Given the description of an element on the screen output the (x, y) to click on. 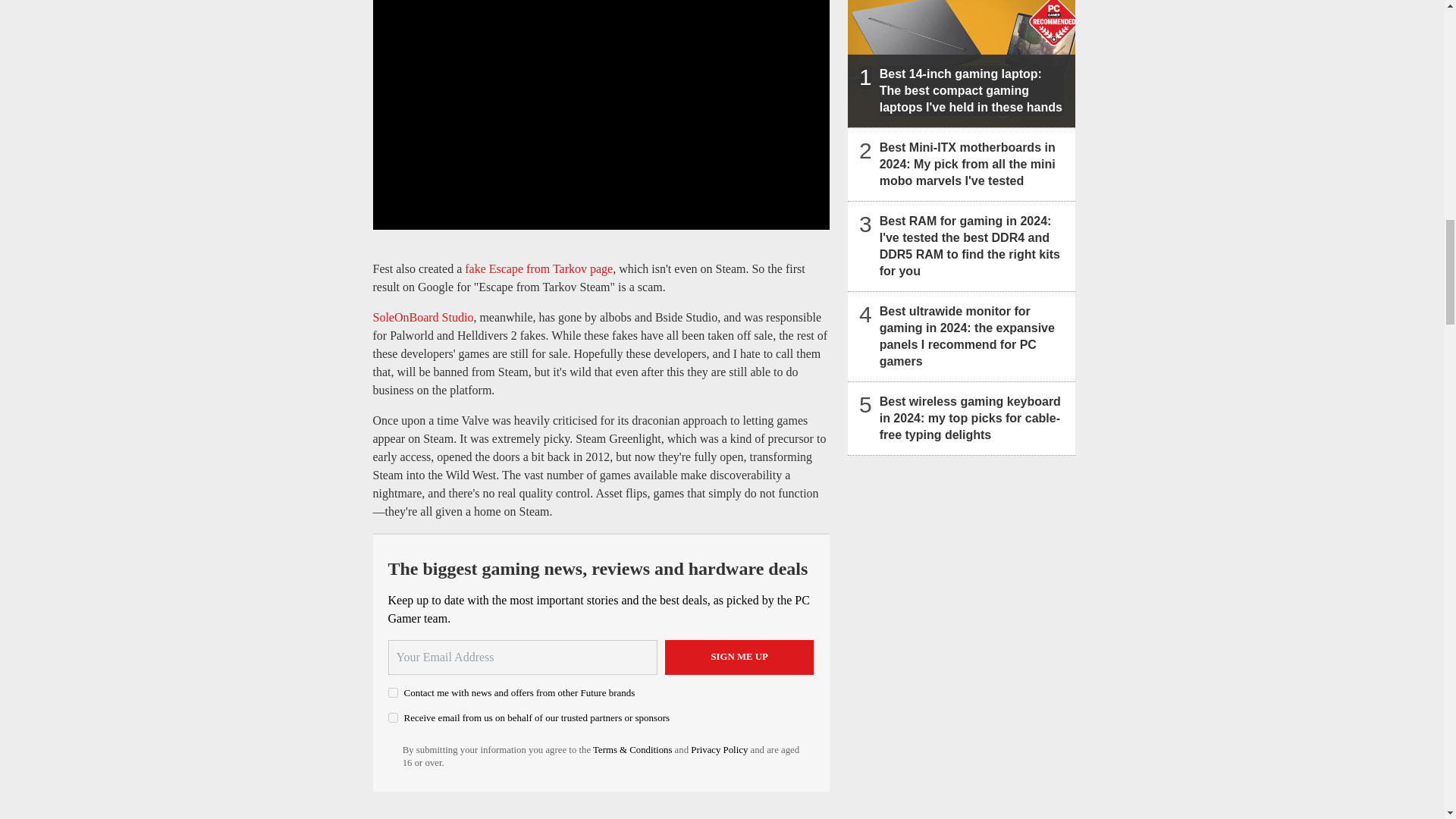
on (392, 692)
Sign me up (739, 656)
on (392, 717)
